Given the description of an element on the screen output the (x, y) to click on. 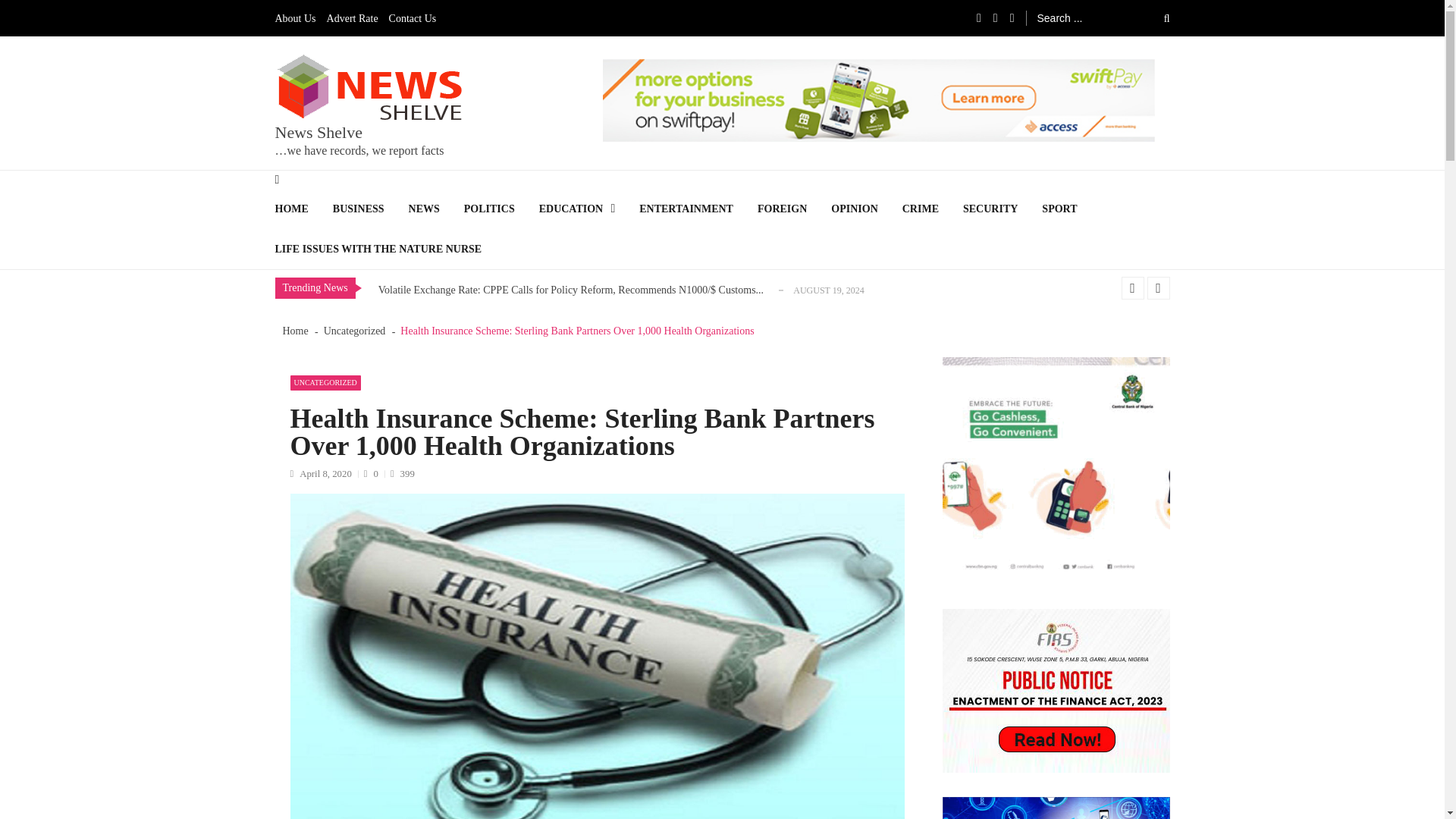
POLITICS (501, 209)
About Us (299, 18)
News Shelve (318, 132)
Contact Us (416, 18)
Advert Rate (355, 18)
Search (1156, 17)
Search (1156, 17)
EDUCATION (589, 209)
Search (1156, 17)
NEWS (436, 209)
